Given the description of an element on the screen output the (x, y) to click on. 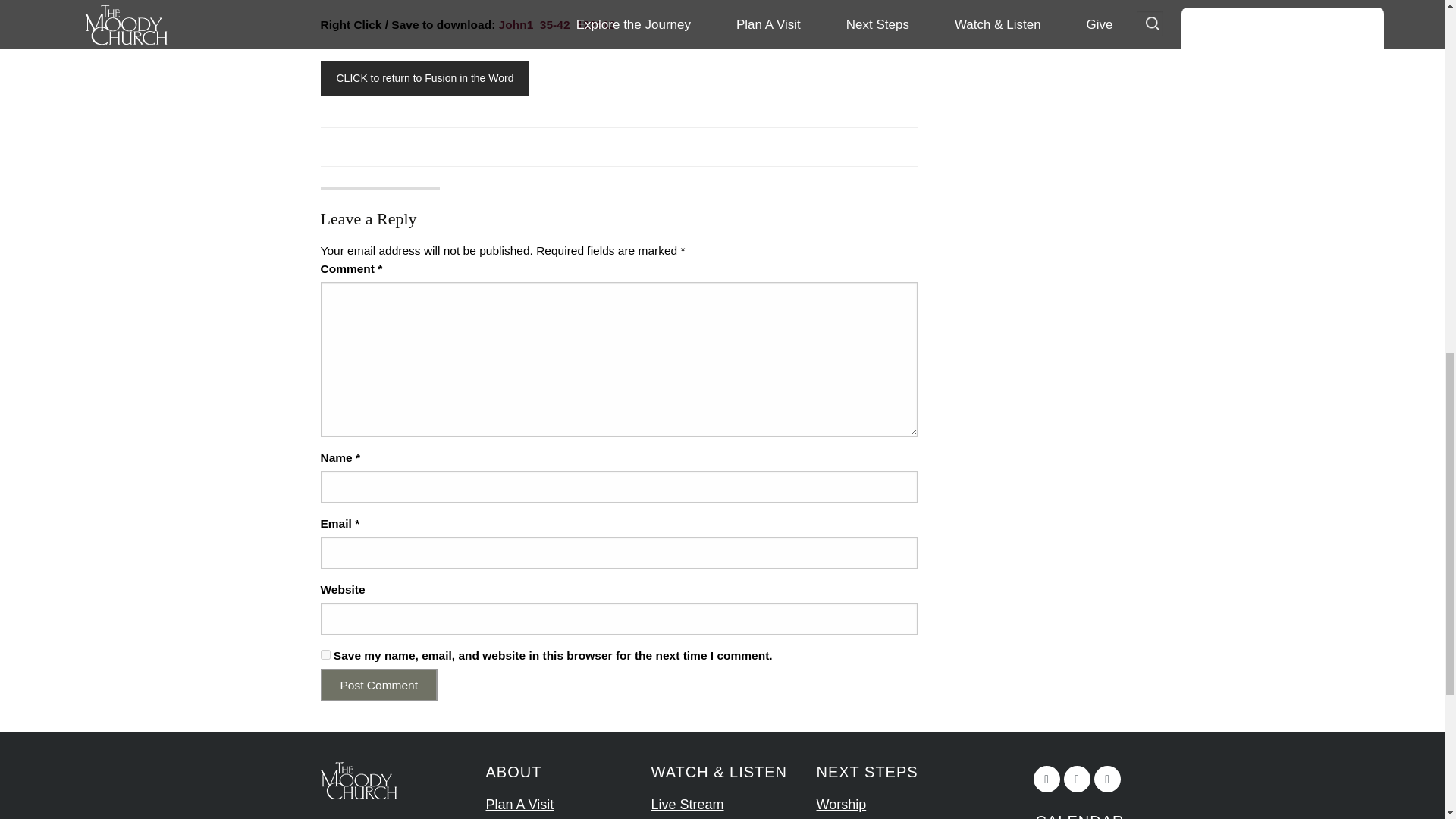
CLICK to return to Fusion in the Word (424, 77)
Post Comment (379, 685)
Post Comment (379, 685)
yes (325, 655)
